Given the description of an element on the screen output the (x, y) to click on. 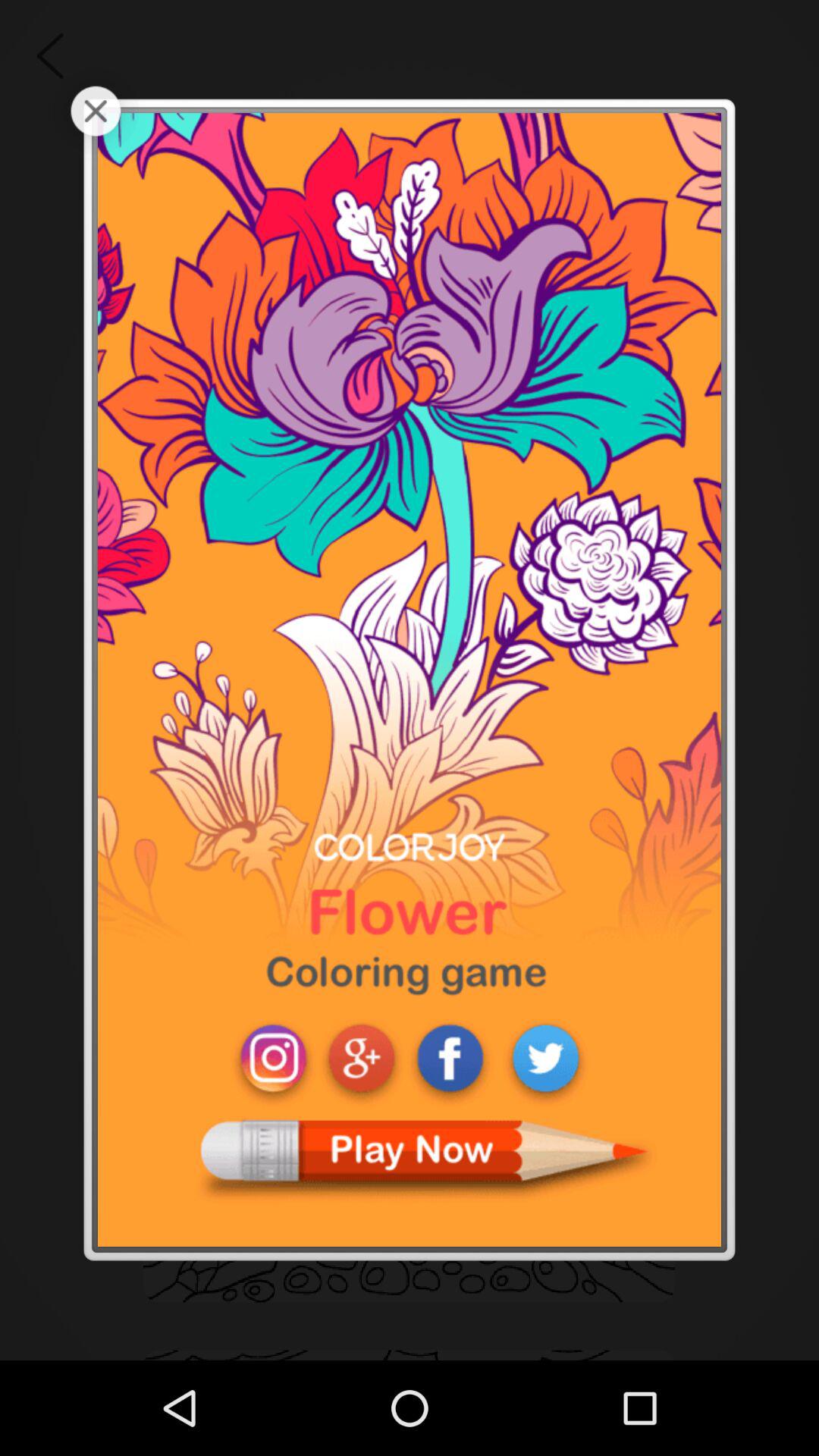
choose the game (409, 679)
